Given the description of an element on the screen output the (x, y) to click on. 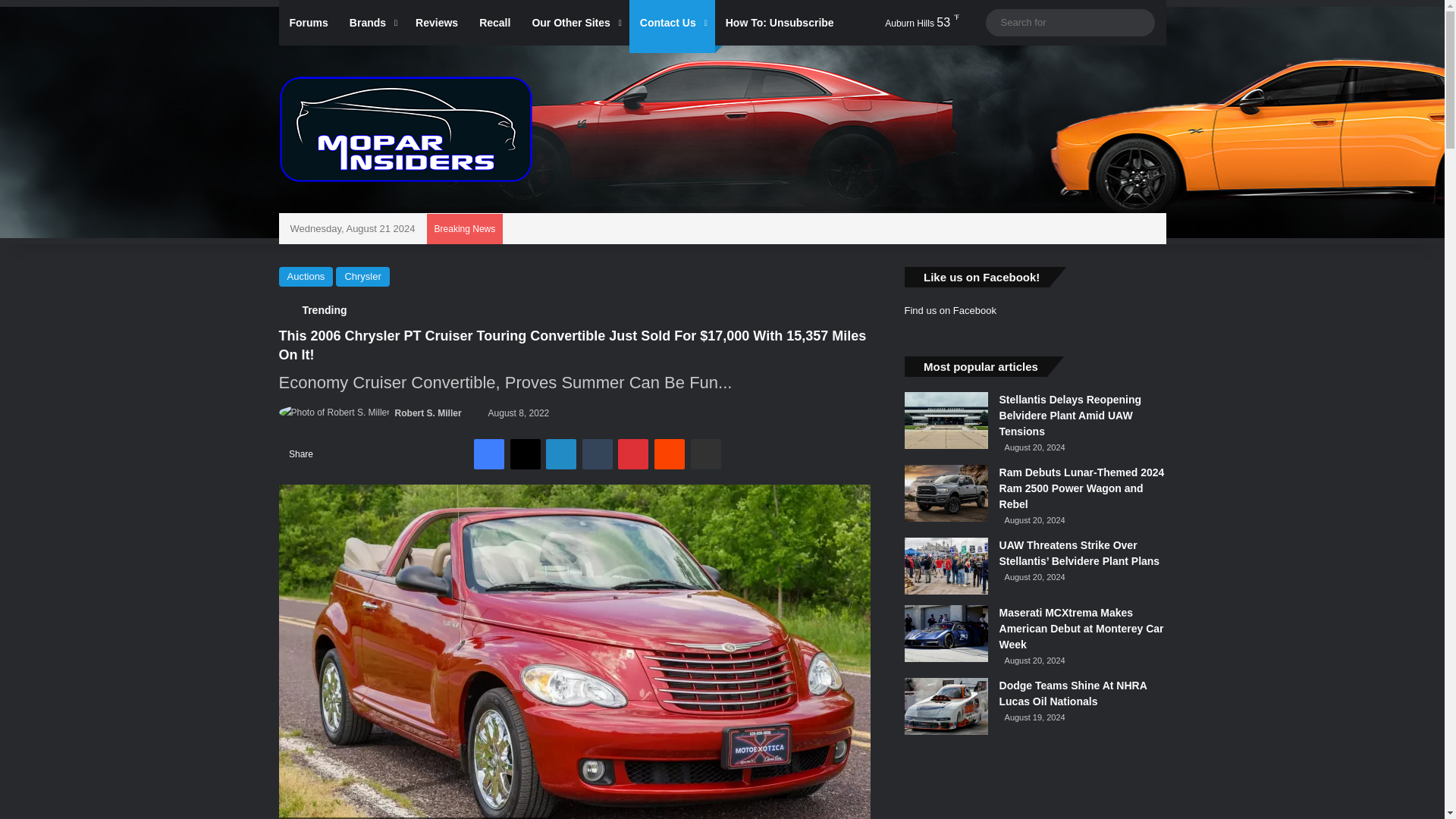
Search for (1139, 22)
MoparInsiders (405, 129)
Tumblr (597, 453)
Robert S. Miller (427, 412)
Recall (494, 22)
Forums (309, 22)
Search for (1069, 22)
X (524, 453)
Facebook (488, 453)
Contact Us (671, 22)
